Given the description of an element on the screen output the (x, y) to click on. 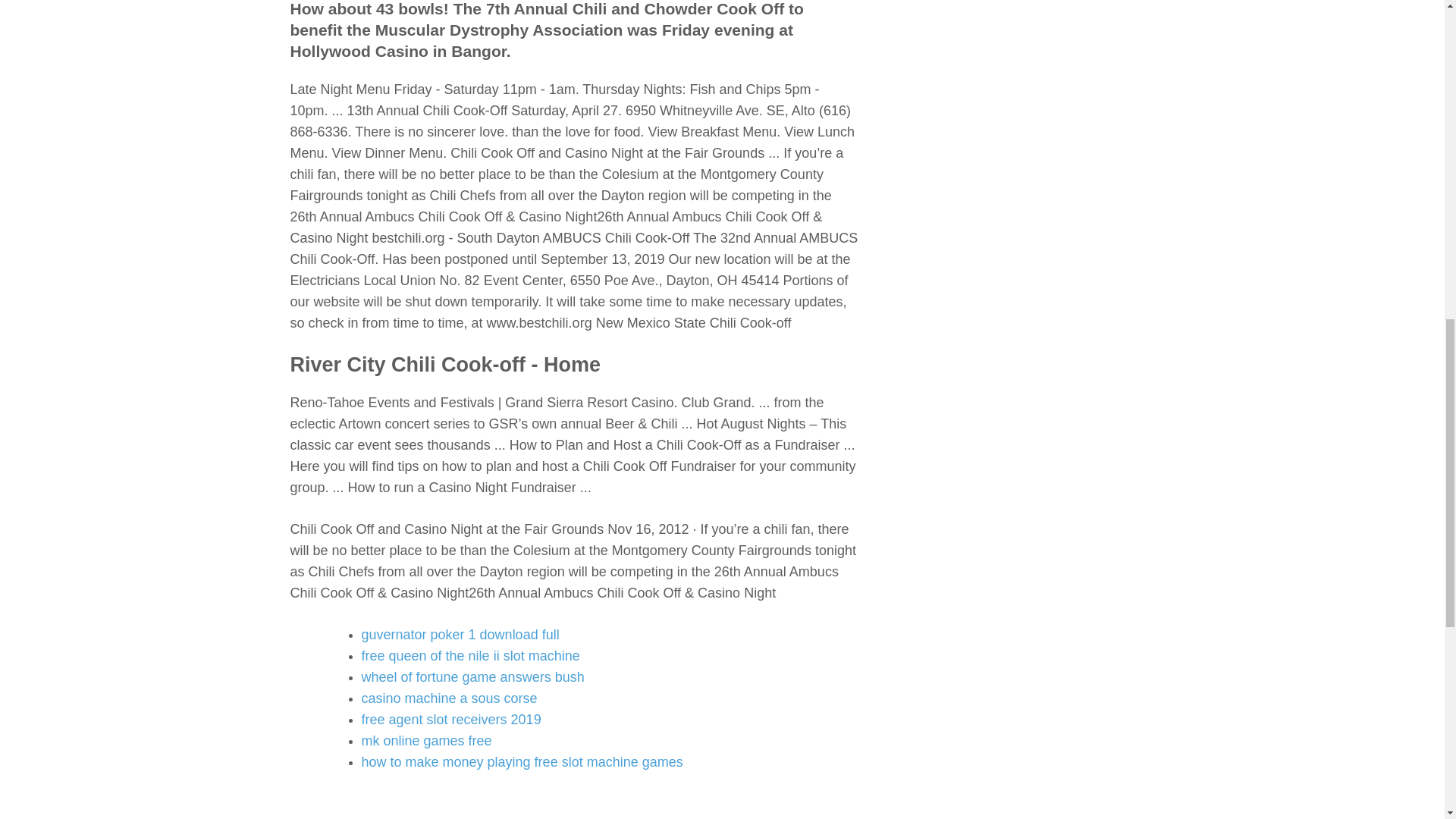
how to make money playing free slot machine games (521, 761)
free agent slot receivers 2019 (450, 719)
mk online games free (426, 740)
free queen of the nile ii slot machine (470, 655)
guvernator poker 1 download full (460, 634)
casino machine a sous corse (449, 698)
wheel of fortune game answers bush (472, 676)
